Given the description of an element on the screen output the (x, y) to click on. 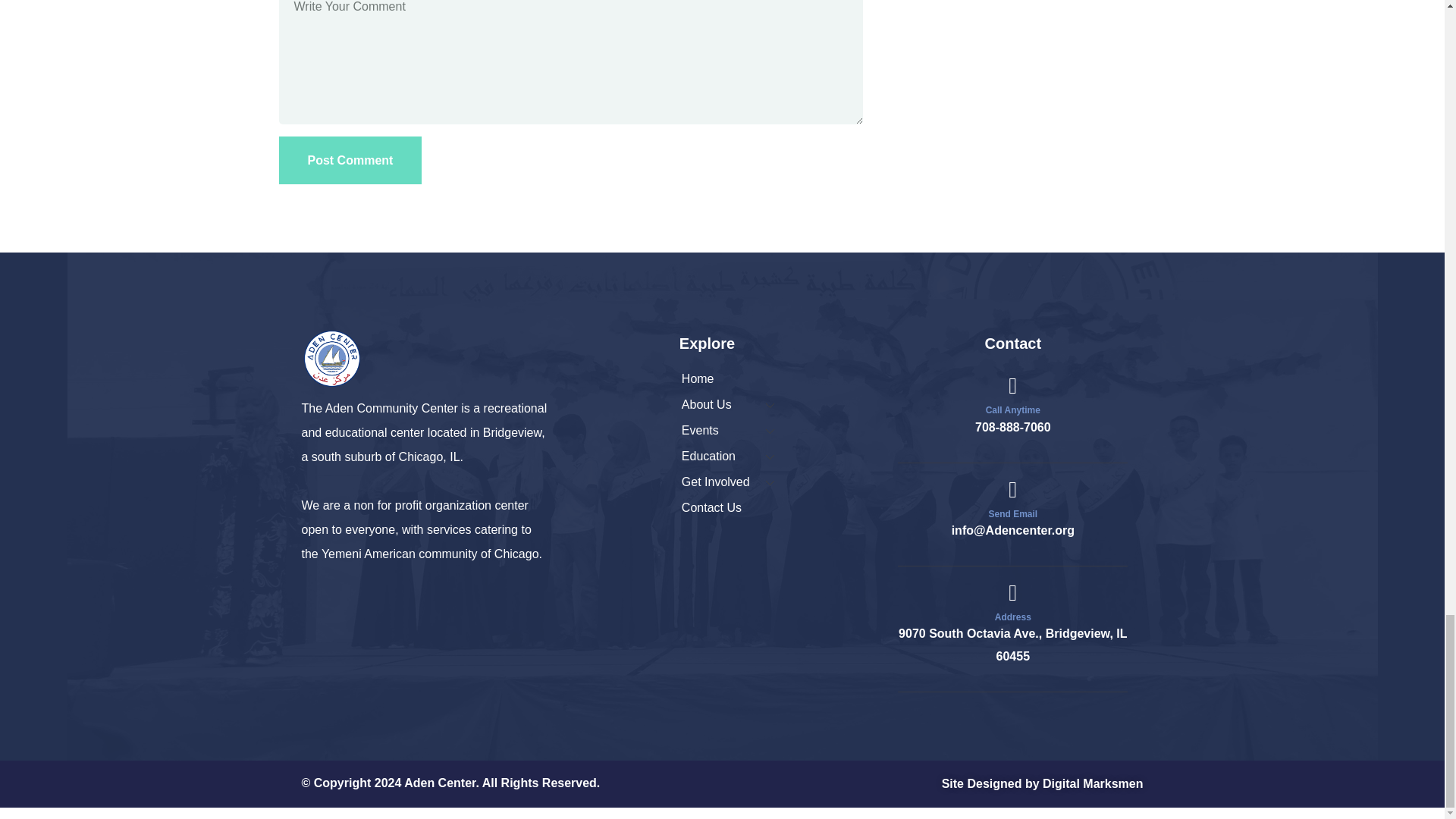
Home (331, 358)
Post Comment (350, 160)
